Given the description of an element on the screen output the (x, y) to click on. 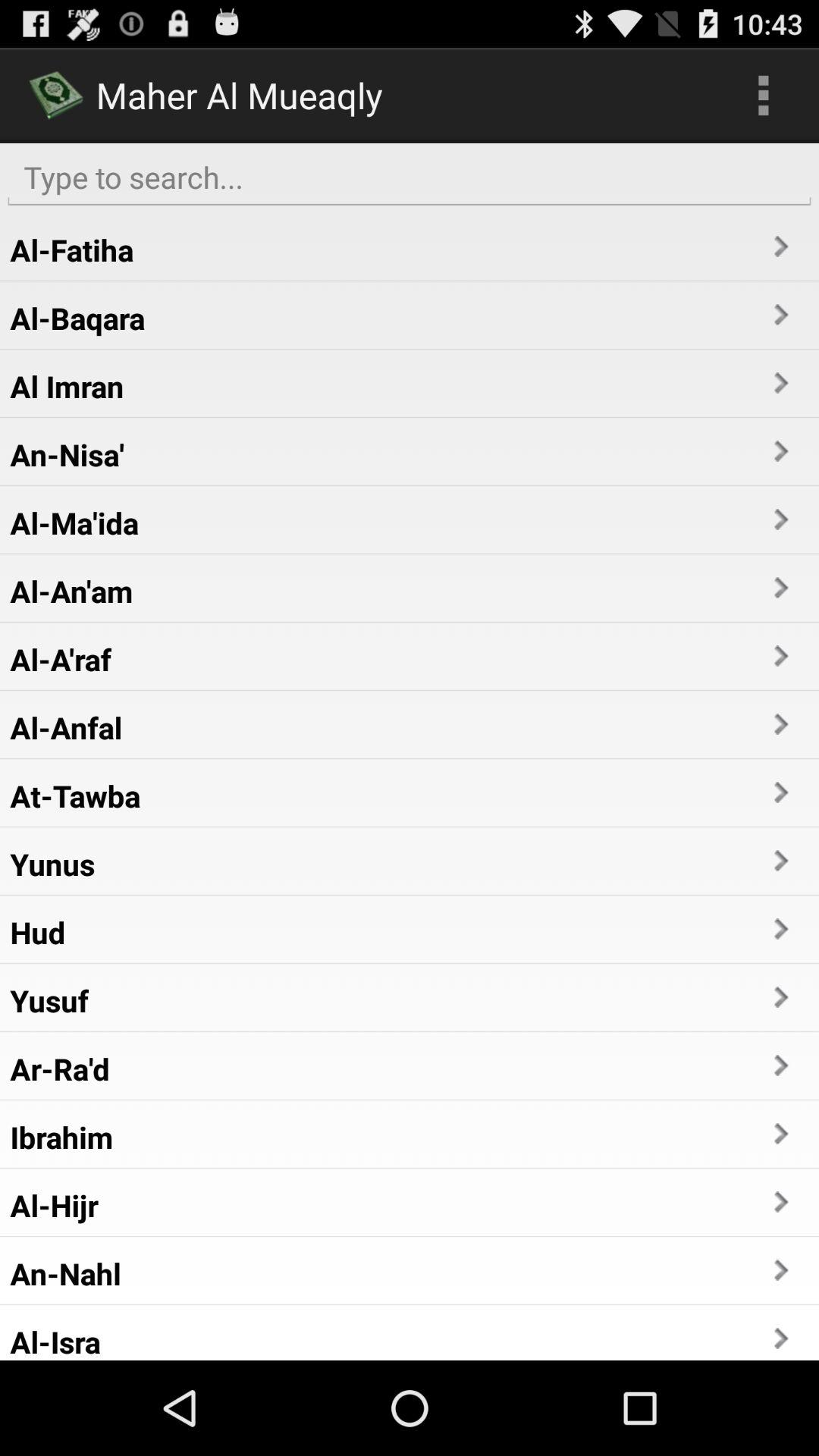
tap item to the right of al-baqara icon (779, 314)
